Given the description of an element on the screen output the (x, y) to click on. 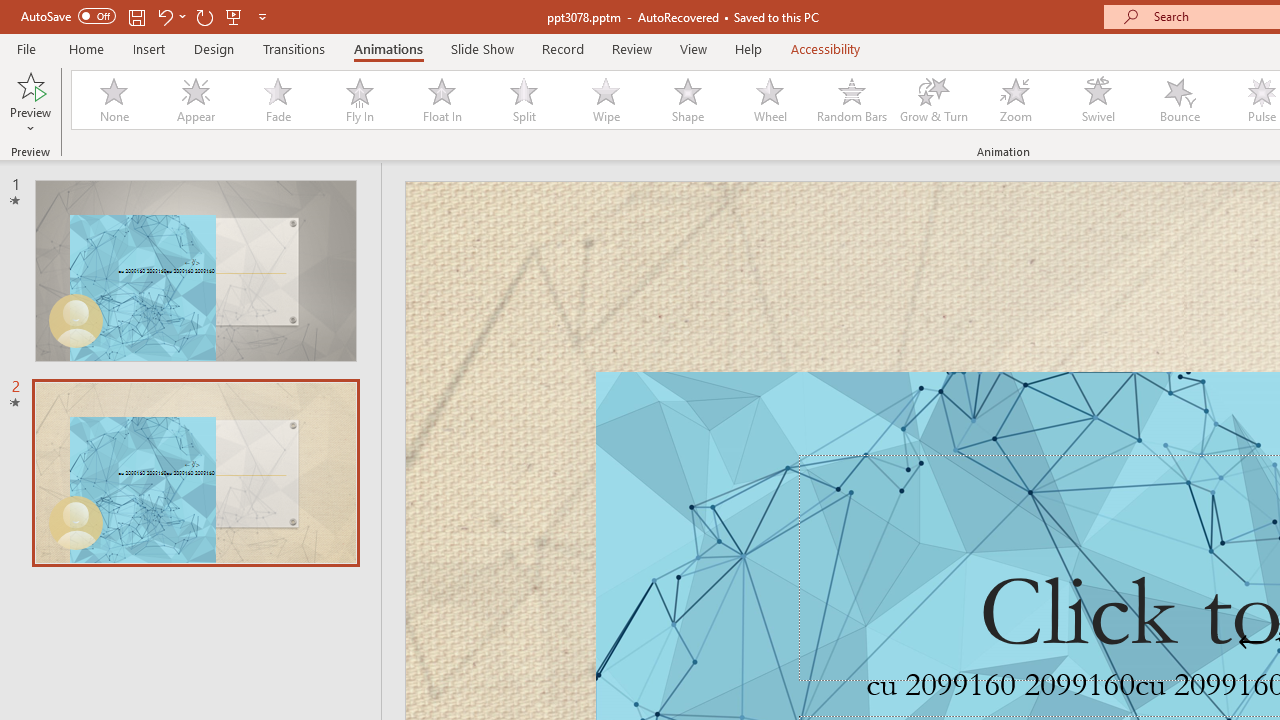
Float In (441, 100)
Wheel (770, 100)
Grow & Turn (934, 100)
